Given the description of an element on the screen output the (x, y) to click on. 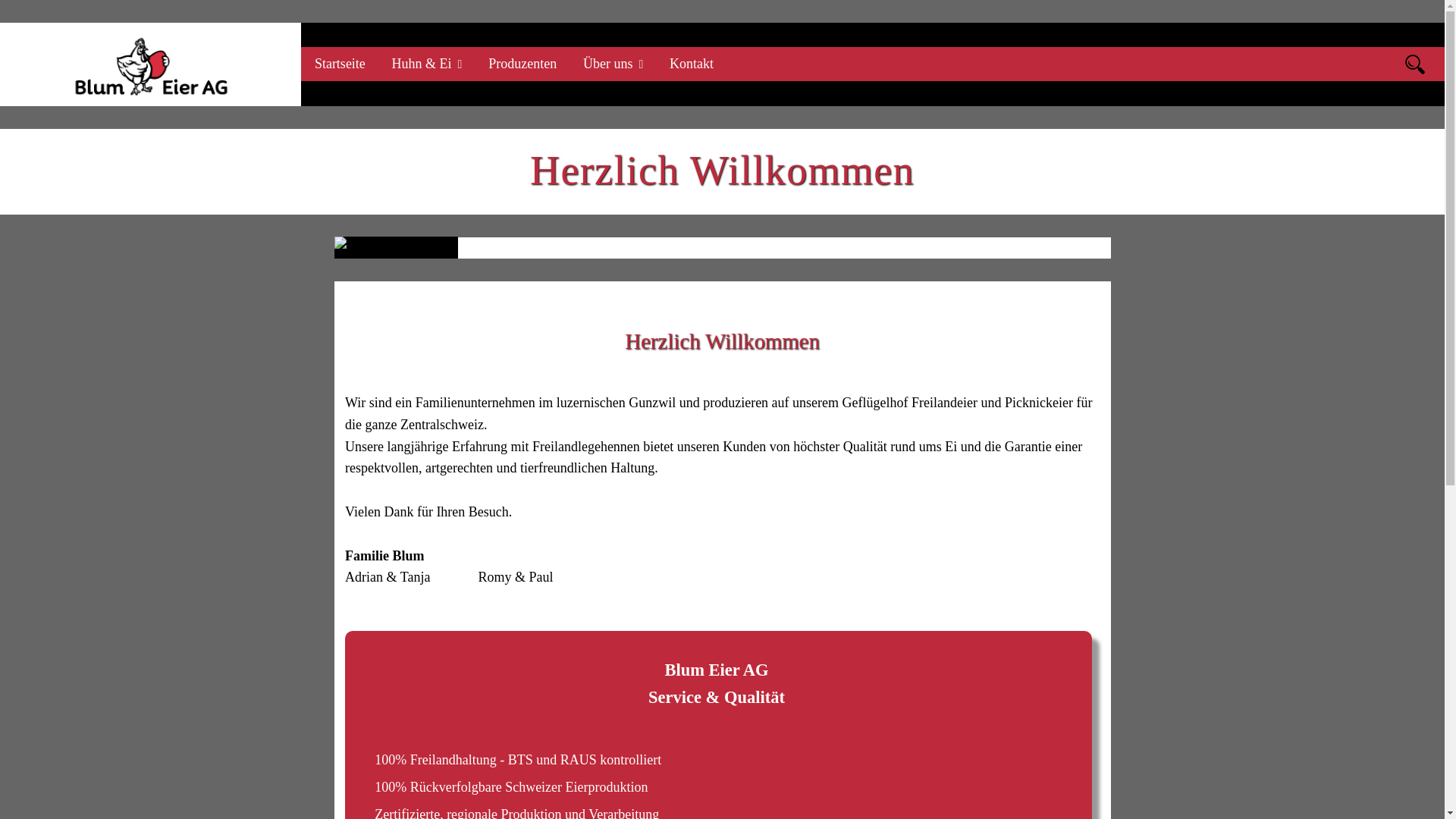
Startseite Element type: text (340, 64)
Huhn & Ei Element type: text (427, 64)
Kontakt Element type: text (691, 64)
Suchen Element type: hover (1414, 64)
Produzenten Element type: text (522, 64)
